Given the description of an element on the screen output the (x, y) to click on. 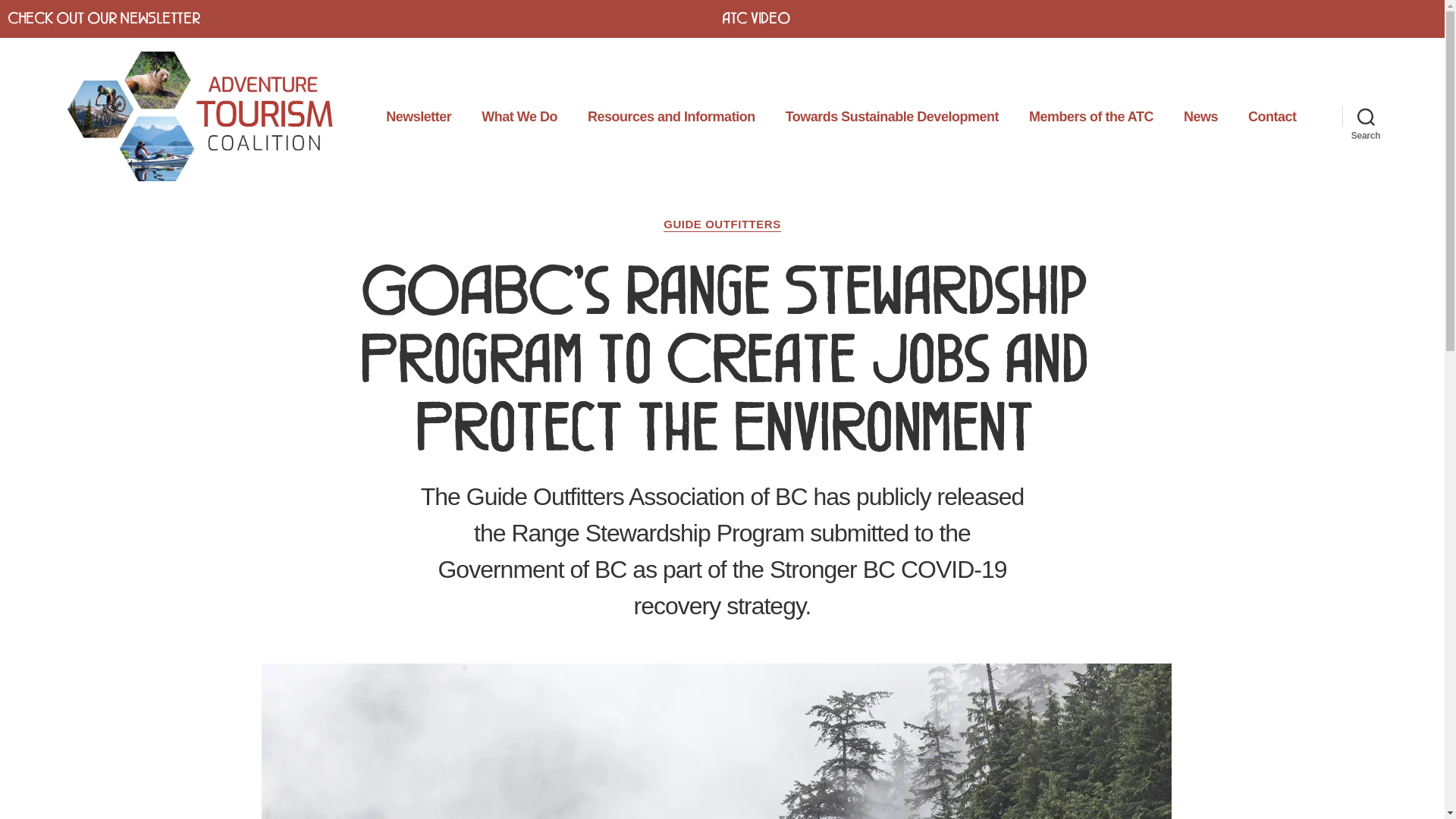
Towards Sustainable Development Element type: text (891, 117)
Resources and Information Element type: text (671, 117)
  Element type: text (1421, 16)
CHECK OUT OUR NEWSLETTER Element type: text (103, 17)
Members of the ATC Element type: text (1091, 117)
Contact Element type: text (1272, 117)
News Element type: text (1200, 117)
Newsletter Element type: text (418, 117)
  Element type: text (1433, 16)
ATC VIDEO Element type: text (755, 17)
Search Element type: text (1366, 115)
What We Do Element type: text (519, 117)
GUIDE OUTFITTERS Element type: text (722, 224)
